Given the description of an element on the screen output the (x, y) to click on. 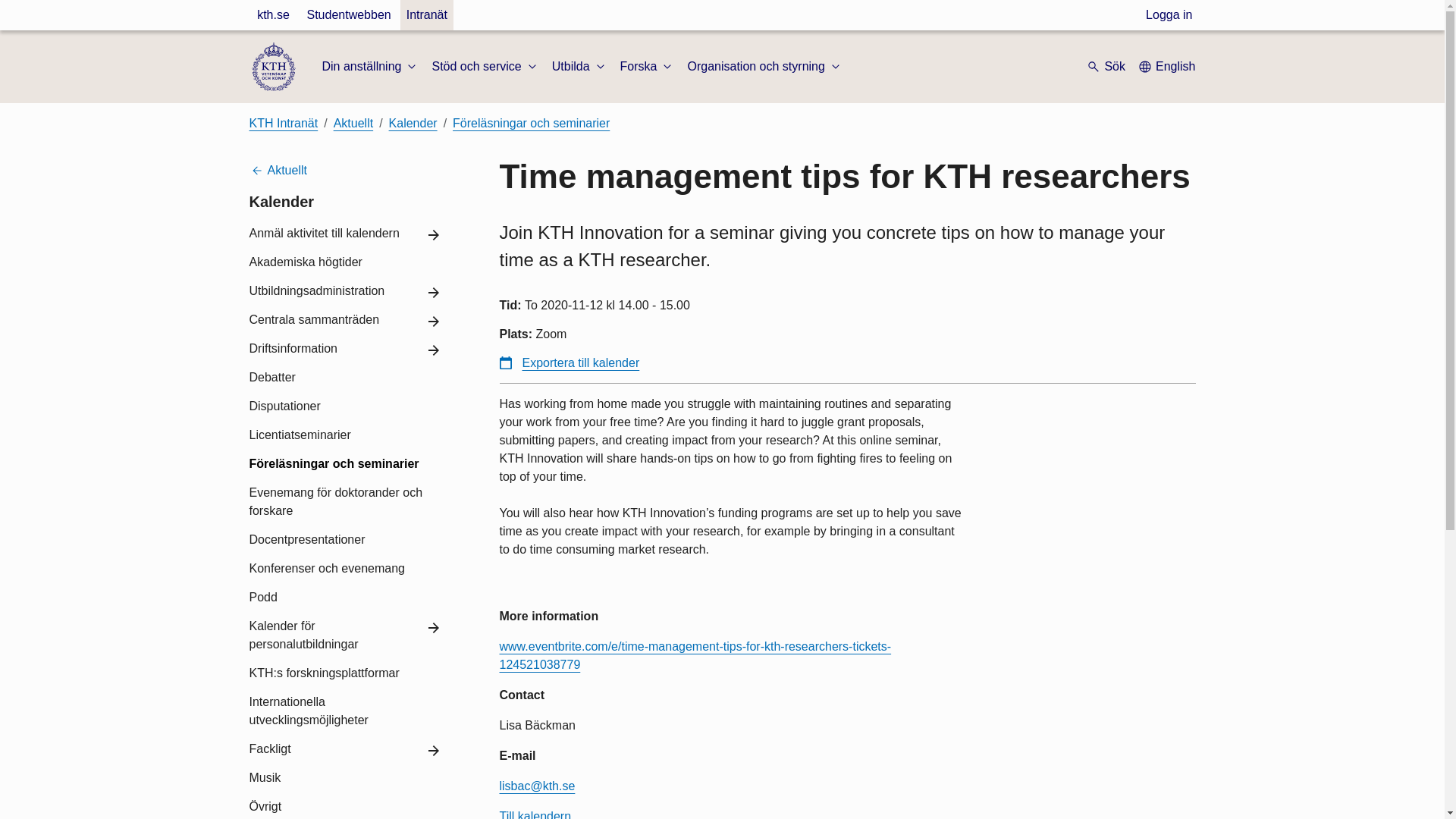
Forska (647, 66)
Utbilda (579, 66)
Studentwebben (347, 15)
Logga in (1168, 15)
kth.se (272, 15)
Organisation och styrning (765, 66)
